Given the description of an element on the screen output the (x, y) to click on. 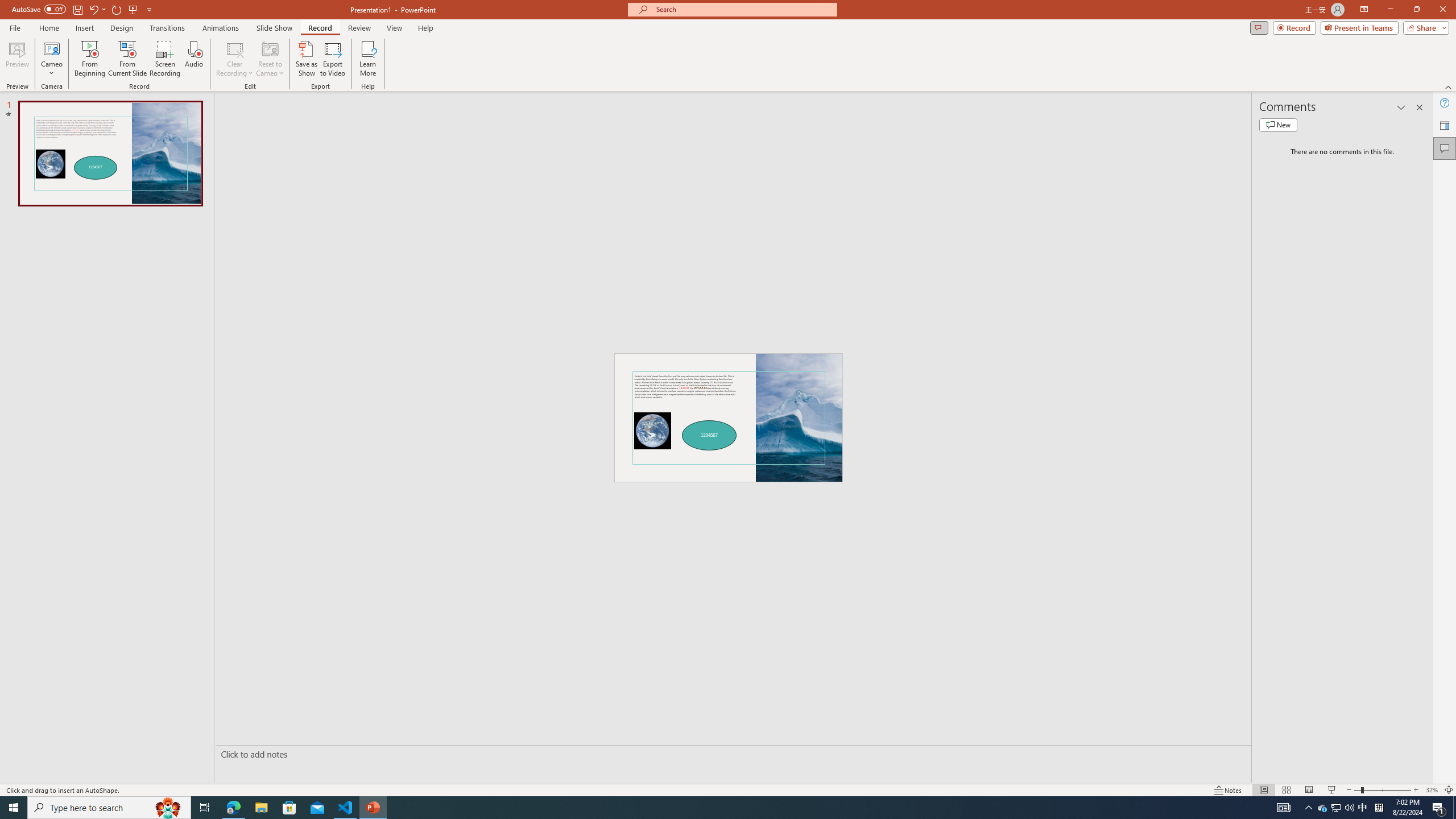
Notes  (1227, 790)
Class: MsoCommandBar (728, 789)
Task Pane Options (1400, 107)
From Current Slide... (127, 58)
Clear Recording (234, 58)
New comment (1278, 124)
Microsoft search (742, 9)
